Given the description of an element on the screen output the (x, y) to click on. 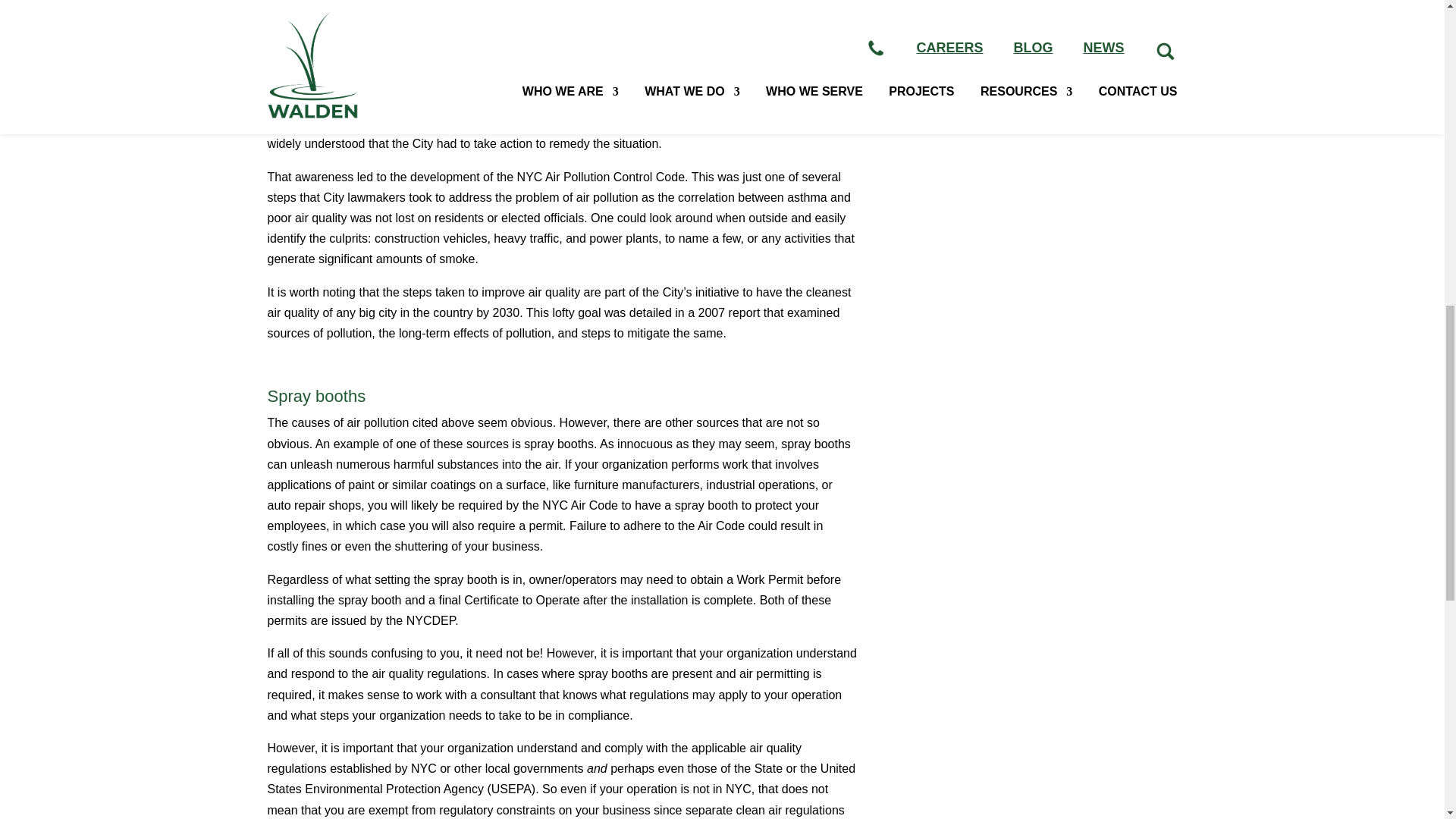
spray booths exterior 091522 (1041, 2)
